Given the description of an element on the screen output the (x, y) to click on. 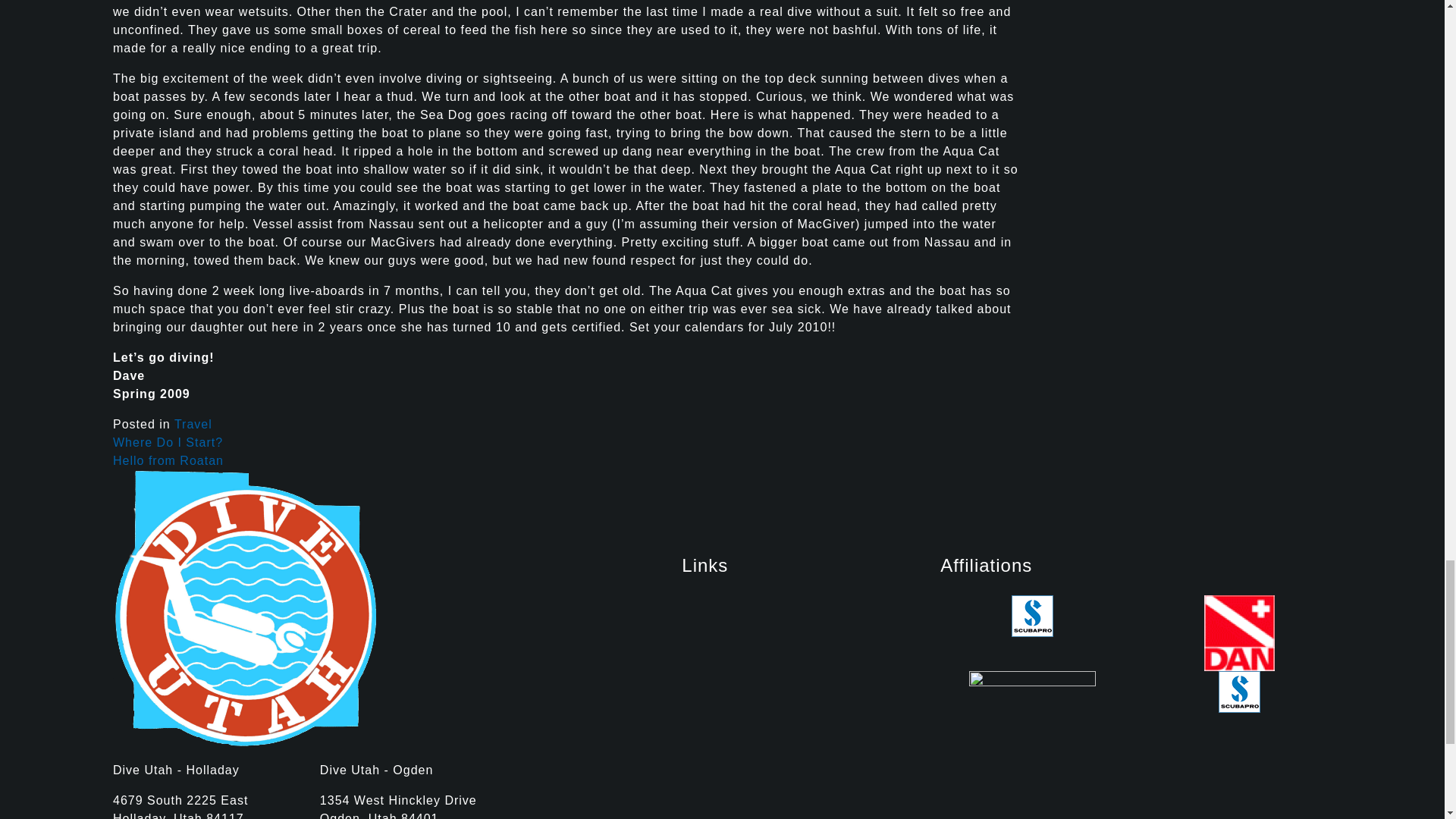
Hello from Roatan (168, 460)
Travel (193, 423)
Where Do I Start? (167, 441)
